Given the description of an element on the screen output the (x, y) to click on. 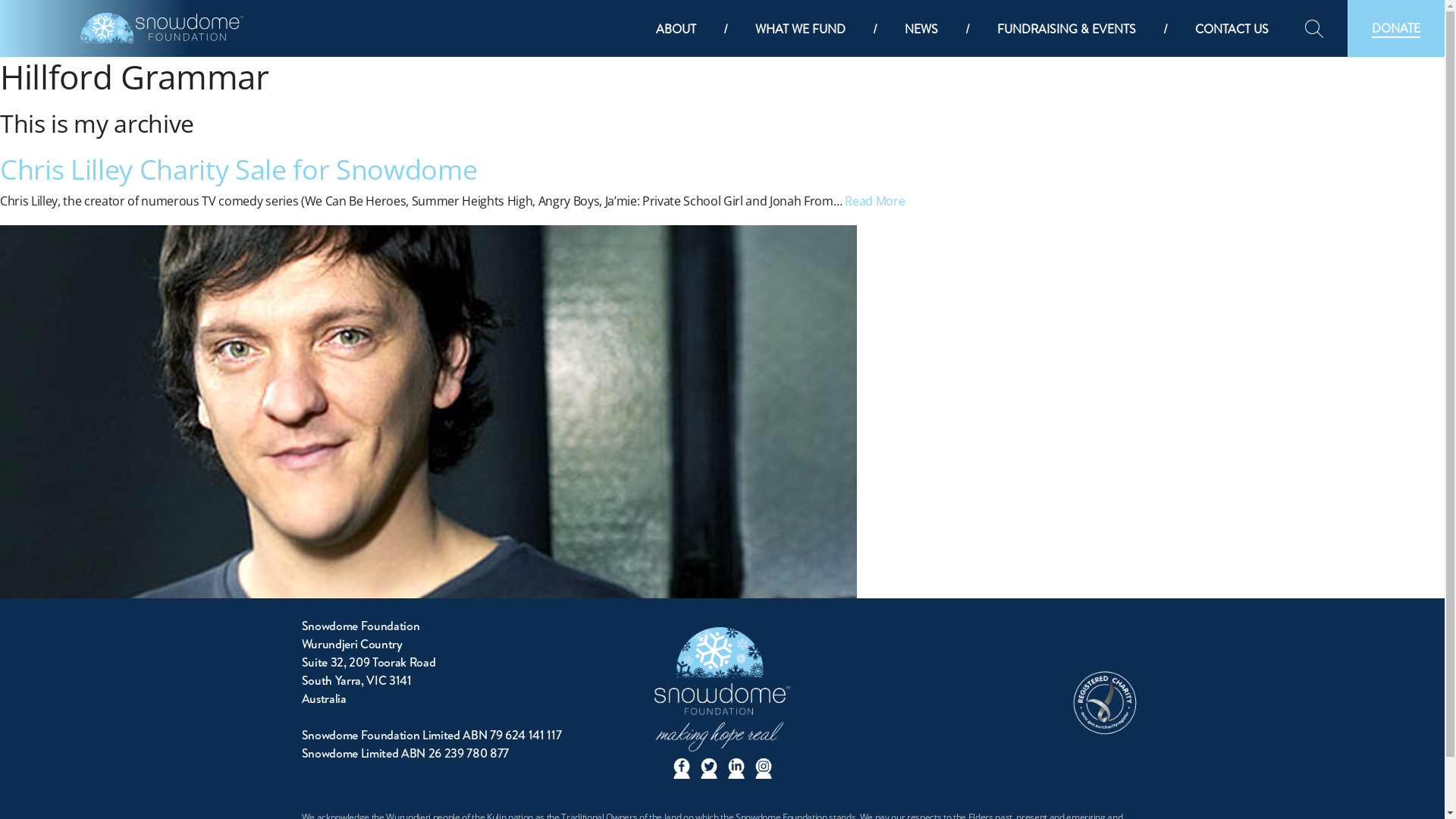
Read More Element type: text (874, 200)
DONATE Element type: text (1395, 28)
ABOUT Element type: text (675, 28)
NEWS Element type: text (921, 28)
CONTACT US Element type: text (1231, 28)
FUNDRAISING & EVENTS Element type: text (1066, 28)
WHAT WE FUND Element type: text (800, 28)
Chris Lilley Charity Sale for Snowdome Element type: text (238, 169)
